Given the description of an element on the screen output the (x, y) to click on. 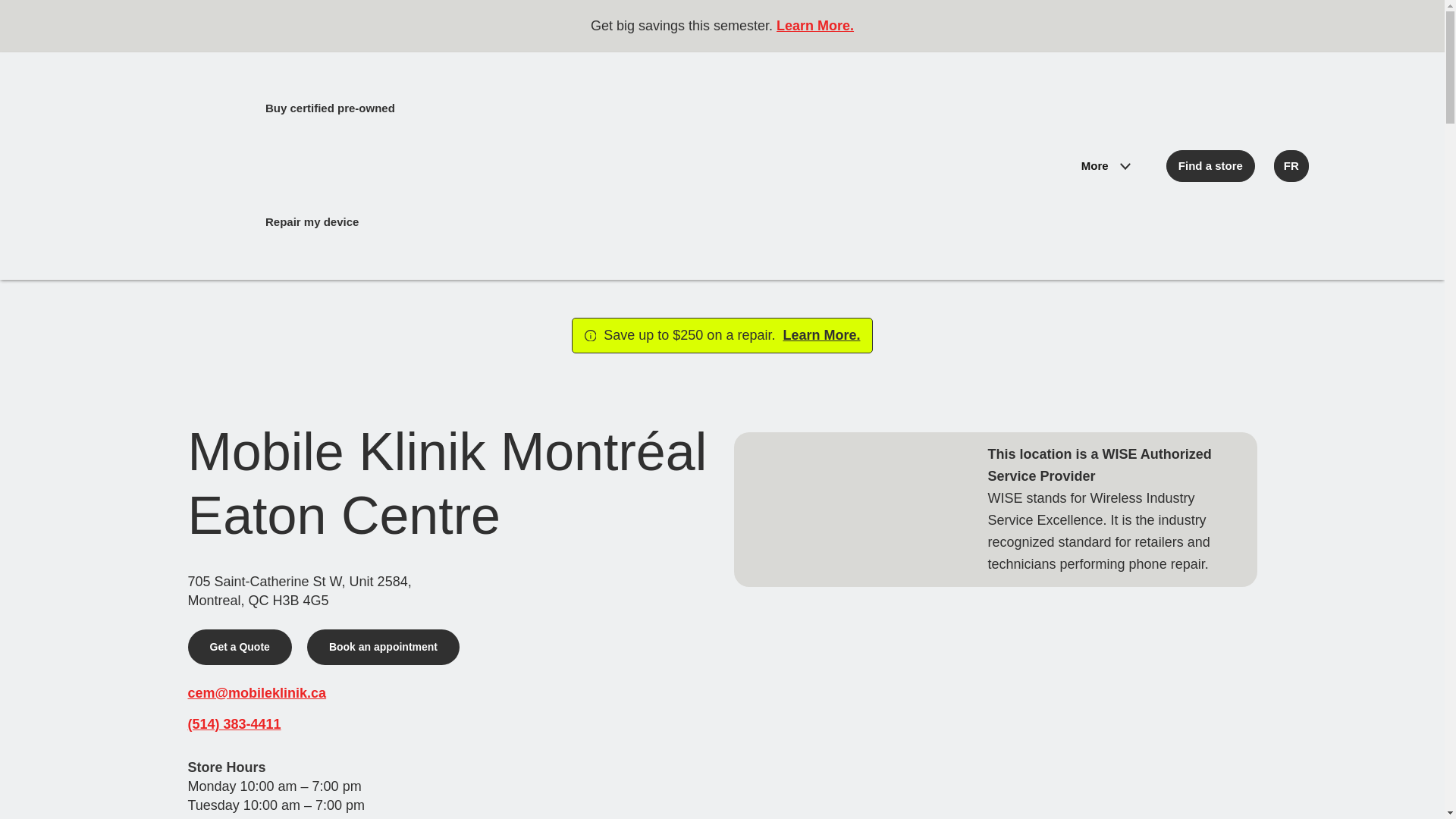
FR (1291, 165)
Repair my device (194, 221)
FR (1291, 165)
Find a store (1210, 165)
Mobile Klinik (847, 165)
Google Maps (995, 712)
Get a Quote (239, 647)
Book an appointment (383, 647)
Buy certified pre-owned (212, 107)
Learn More. (819, 335)
